Given the description of an element on the screen output the (x, y) to click on. 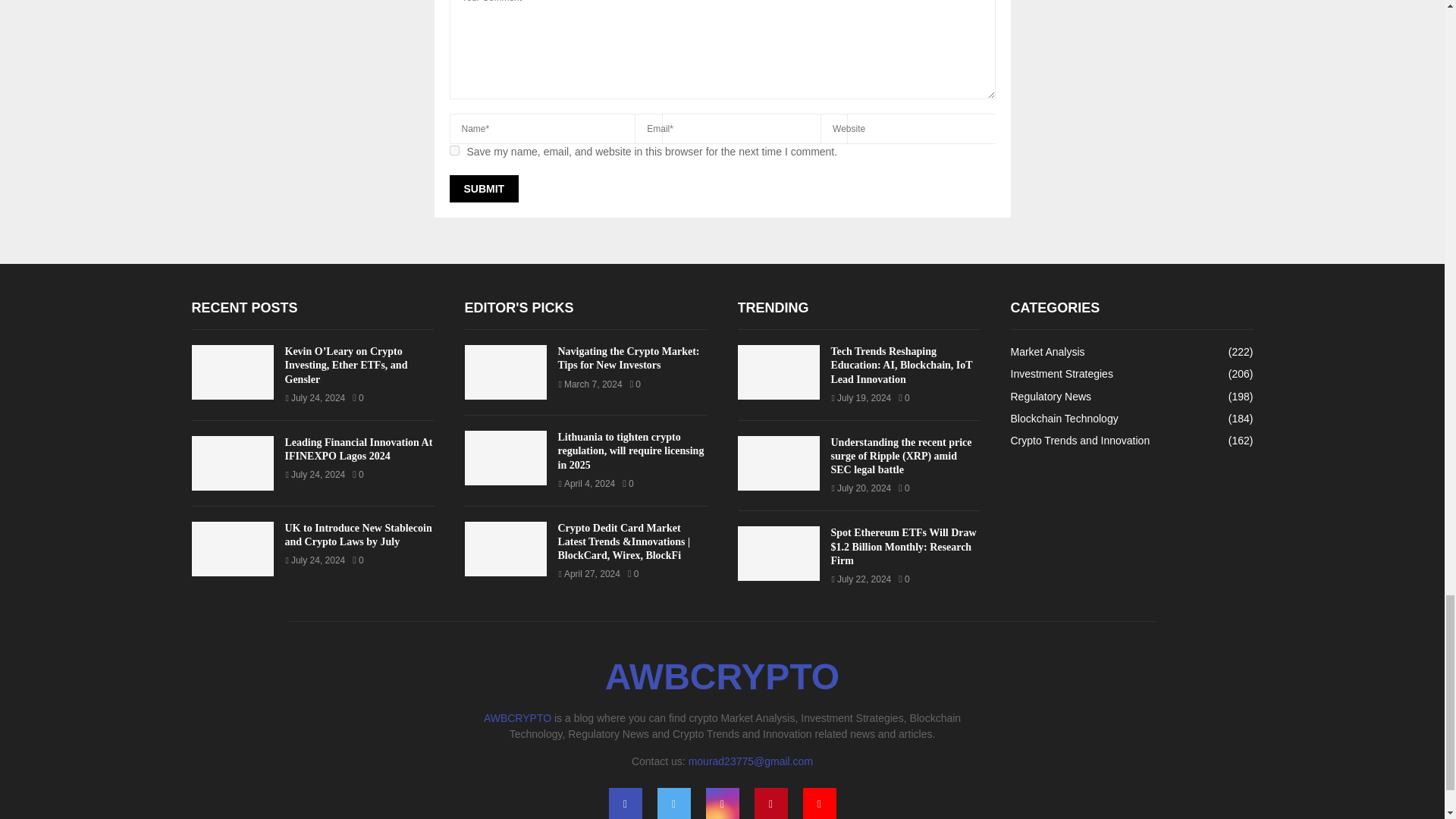
Submit (483, 188)
yes (453, 150)
